Given the description of an element on the screen output the (x, y) to click on. 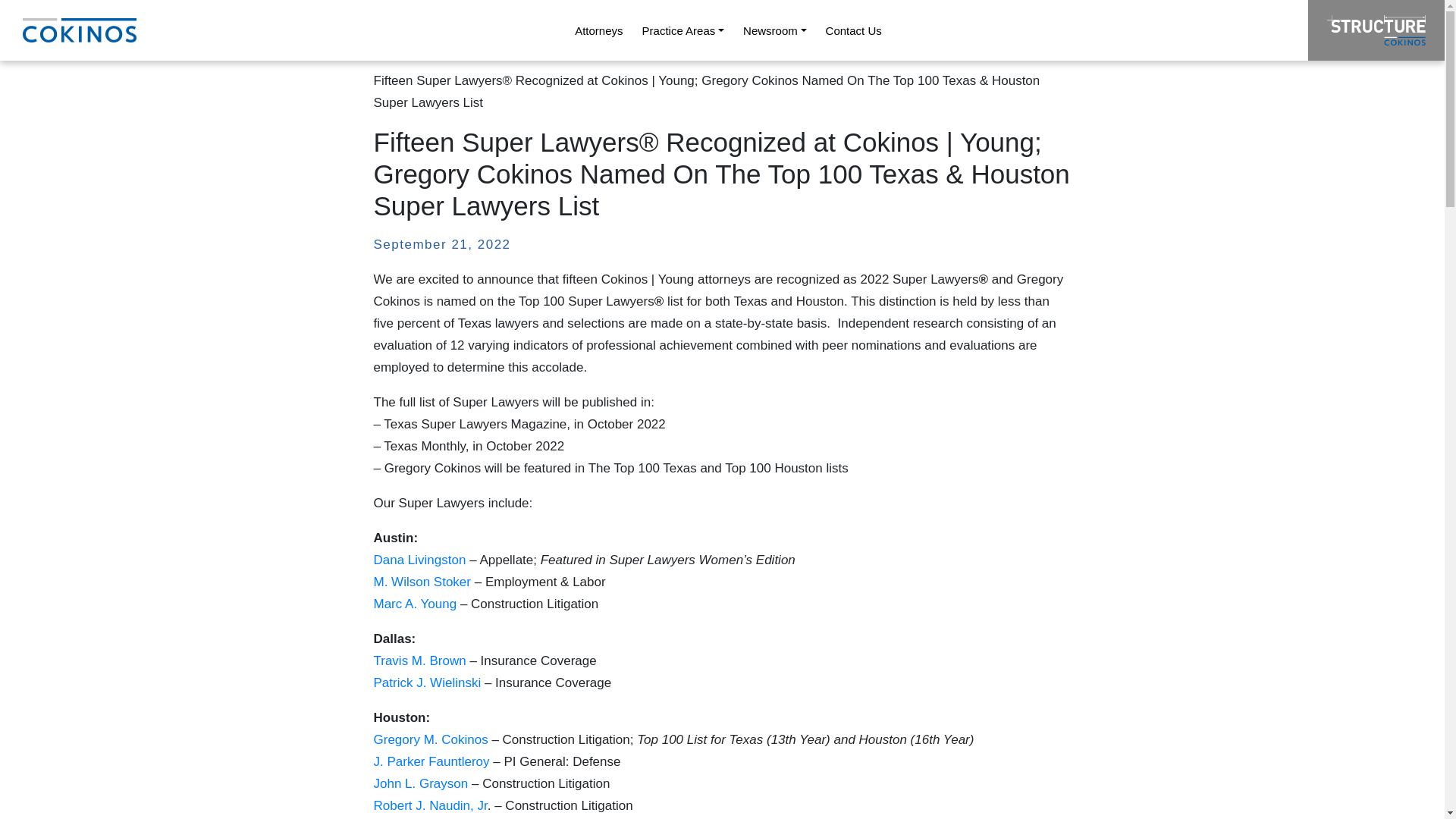
Robert J. Naudin, Jr (429, 805)
Dana Livingston (418, 559)
Gregory M. Cokinos (432, 739)
Patrick J. Wielinski (427, 682)
Travis M. Brown (420, 660)
Practice Areas (682, 30)
M. Wilson Stoker (421, 581)
John L. Grayson (419, 783)
Newsroom (774, 30)
Contact Us (853, 30)
Marc A. Young (416, 603)
J. Parker Fauntleroy (432, 761)
Attorneys (598, 30)
